Given the description of an element on the screen output the (x, y) to click on. 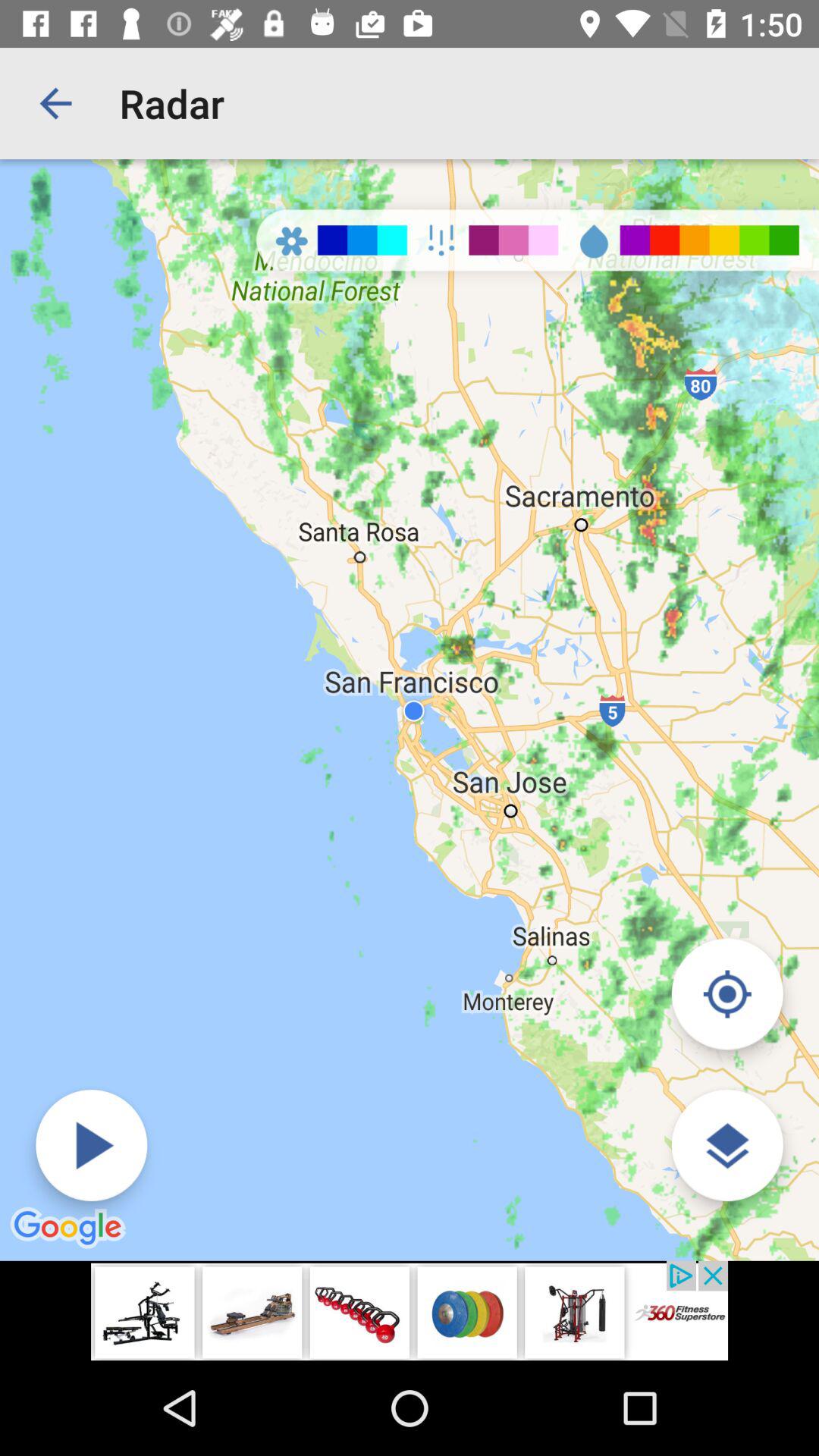
choose map type (727, 1145)
